Given the description of an element on the screen output the (x, y) to click on. 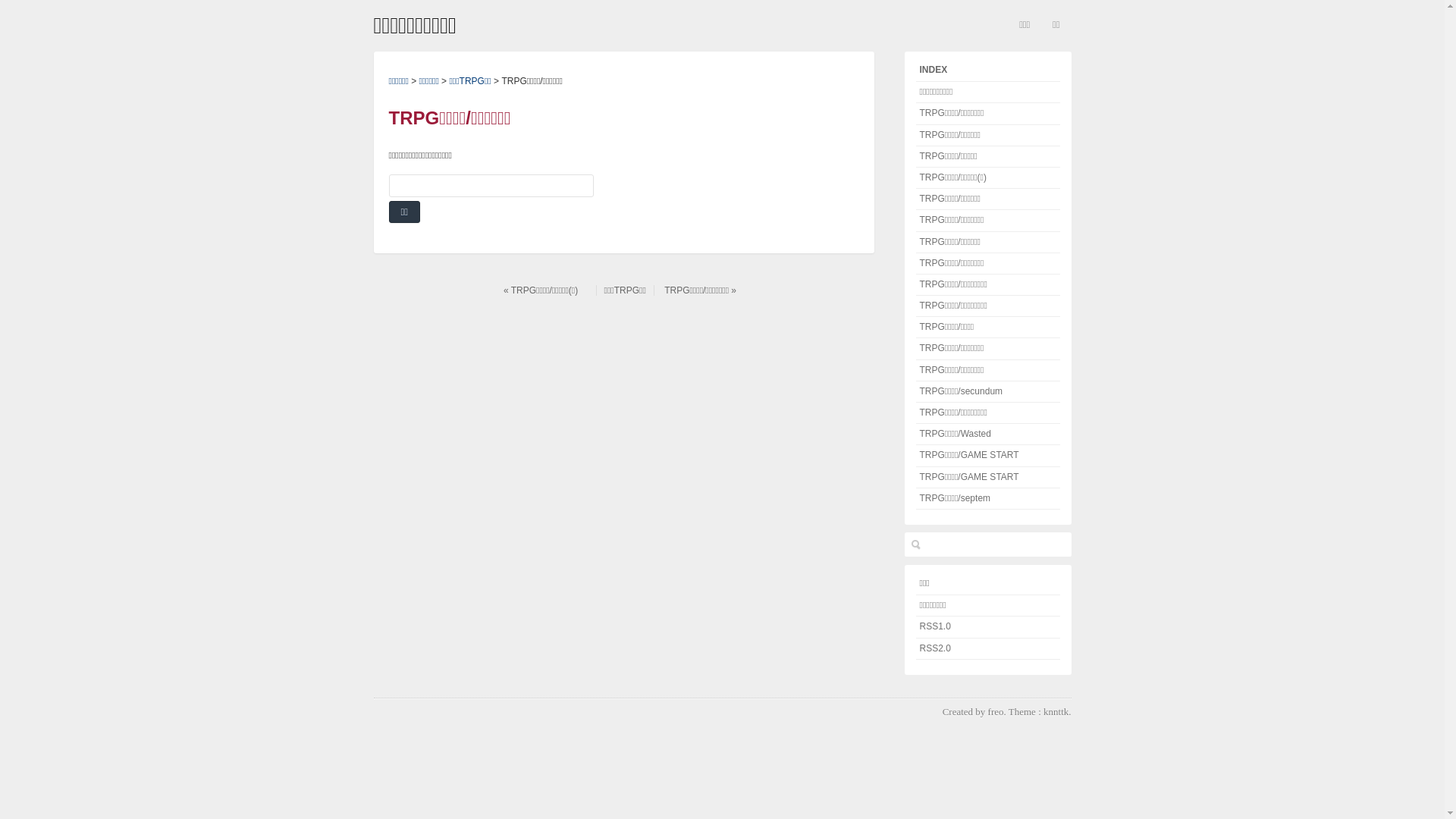
RSS1.0 Element type: text (988, 626)
freo Element type: text (996, 711)
knnttk Element type: text (1055, 711)
RSS2.0 Element type: text (988, 648)
INDEX Element type: text (988, 66)
